Given the description of an element on the screen output the (x, y) to click on. 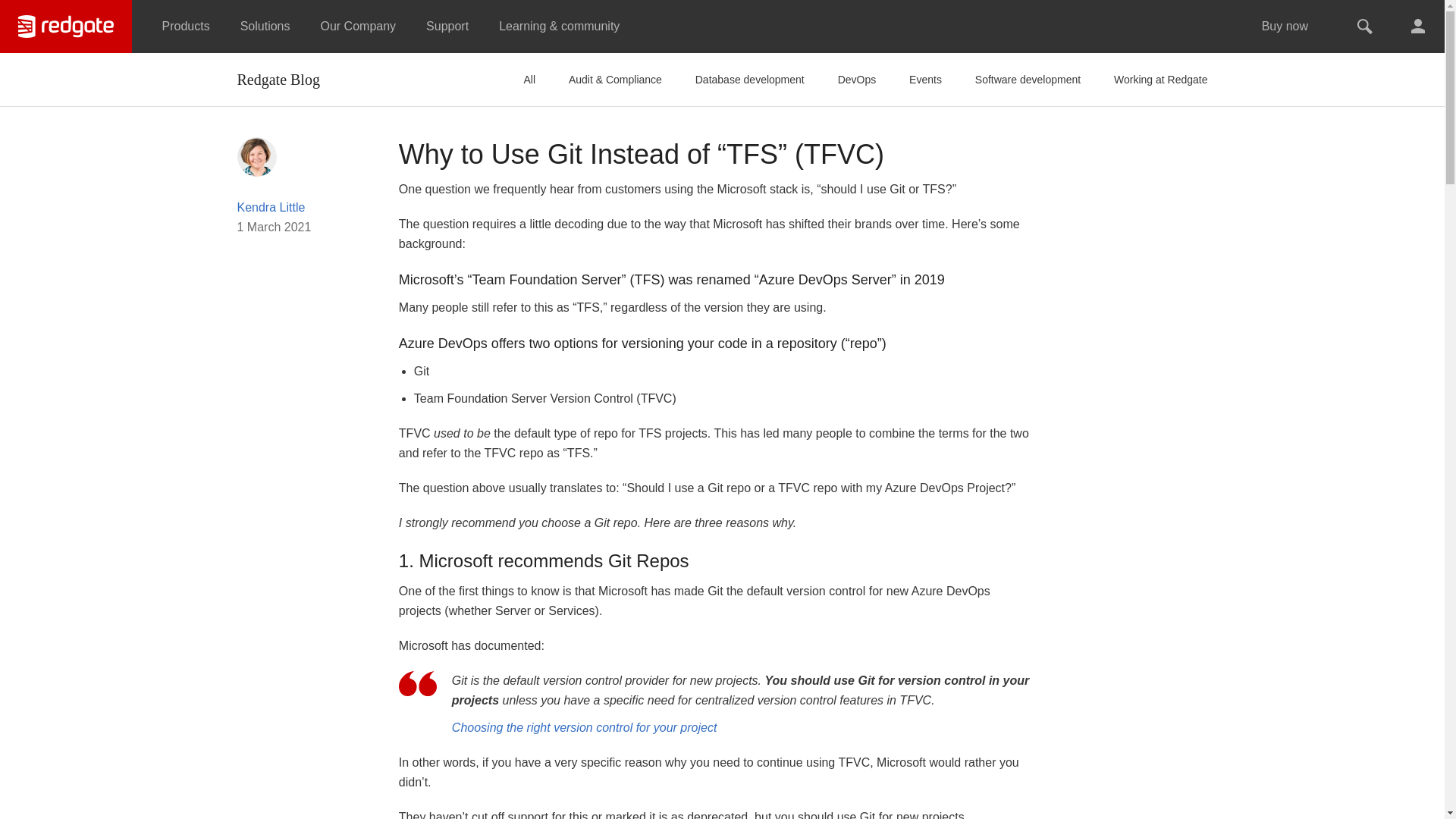
Buy now (1284, 26)
Posts by Kendra Little (269, 206)
Search the Redgate website (1364, 26)
Kendra Little (255, 155)
Products (186, 26)
